Given the description of an element on the screen output the (x, y) to click on. 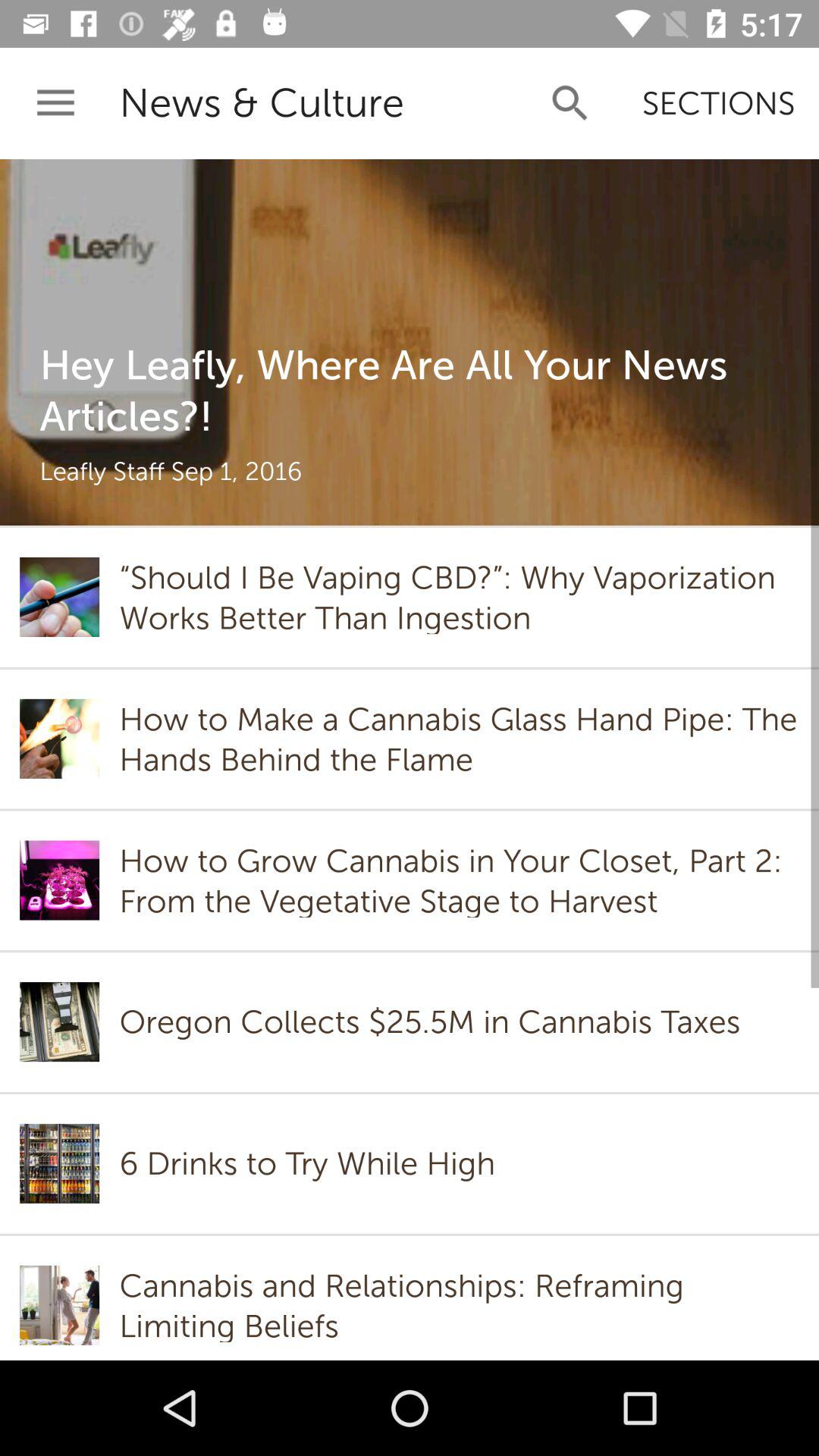
flip until the cannabis and relationships item (459, 1305)
